Given the description of an element on the screen output the (x, y) to click on. 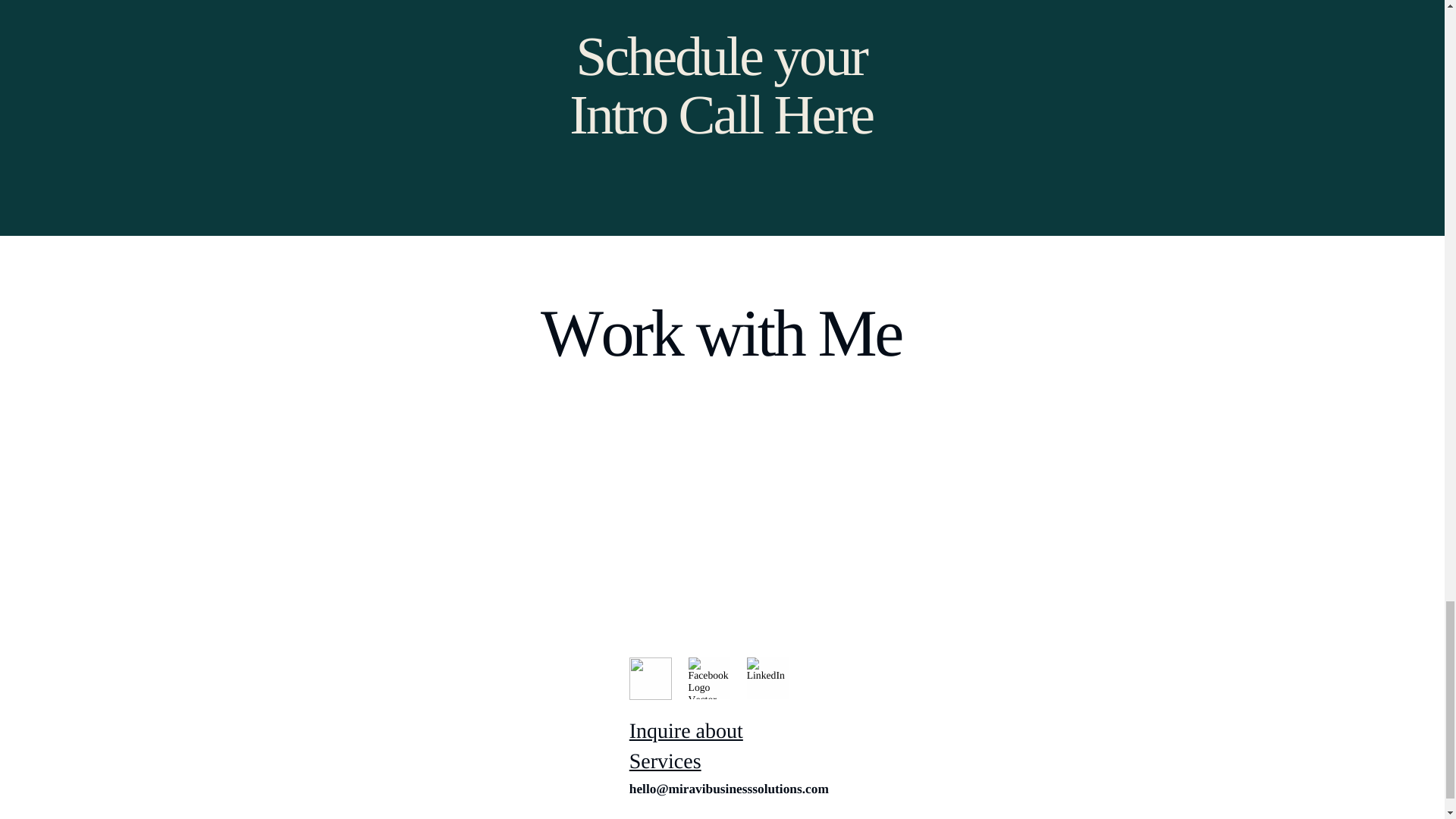
Schedule your Intro Call Here (720, 84)
